Given the description of an element on the screen output the (x, y) to click on. 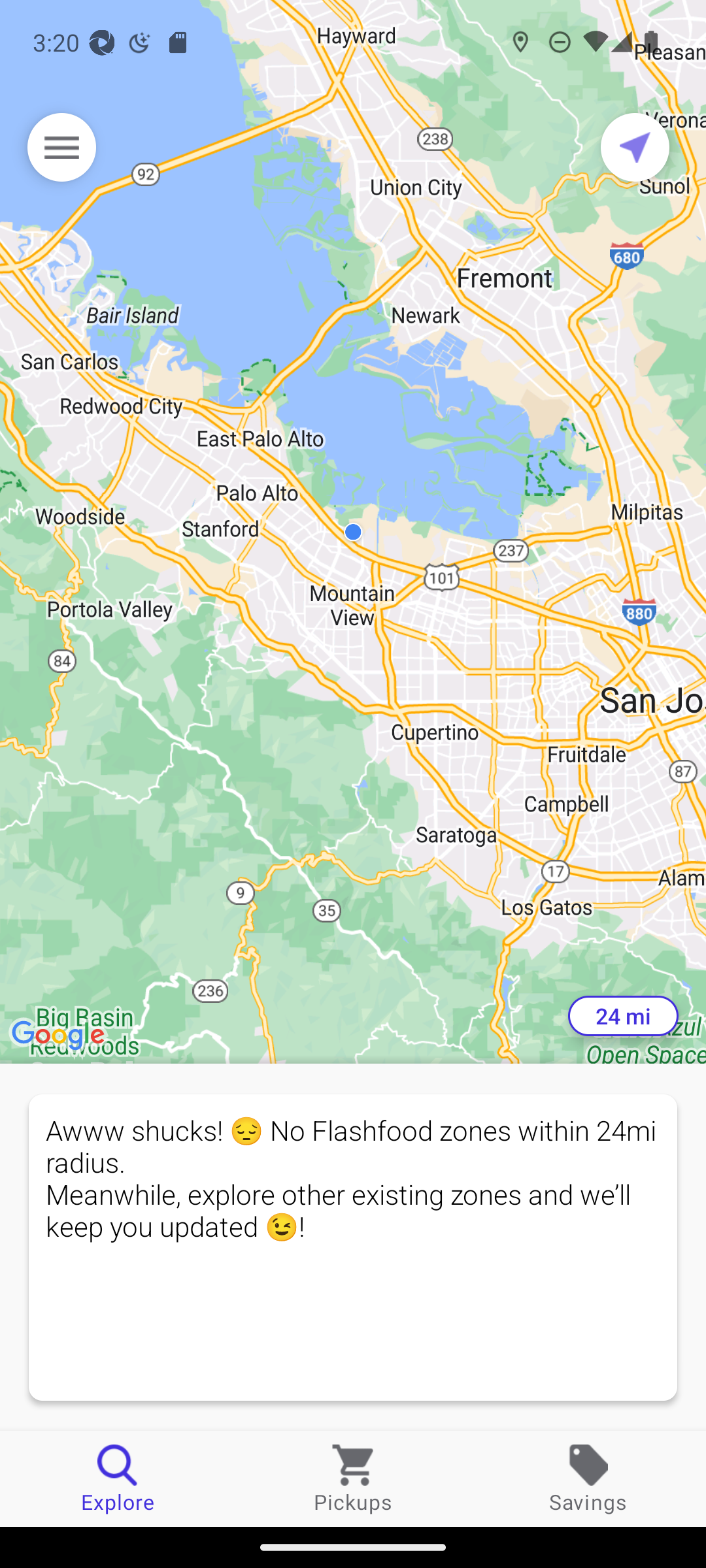
Menu (61, 146)
Current location (634, 146)
24 mi (623, 1015)
Pickups (352, 1478)
Savings (588, 1478)
